Given the description of an element on the screen output the (x, y) to click on. 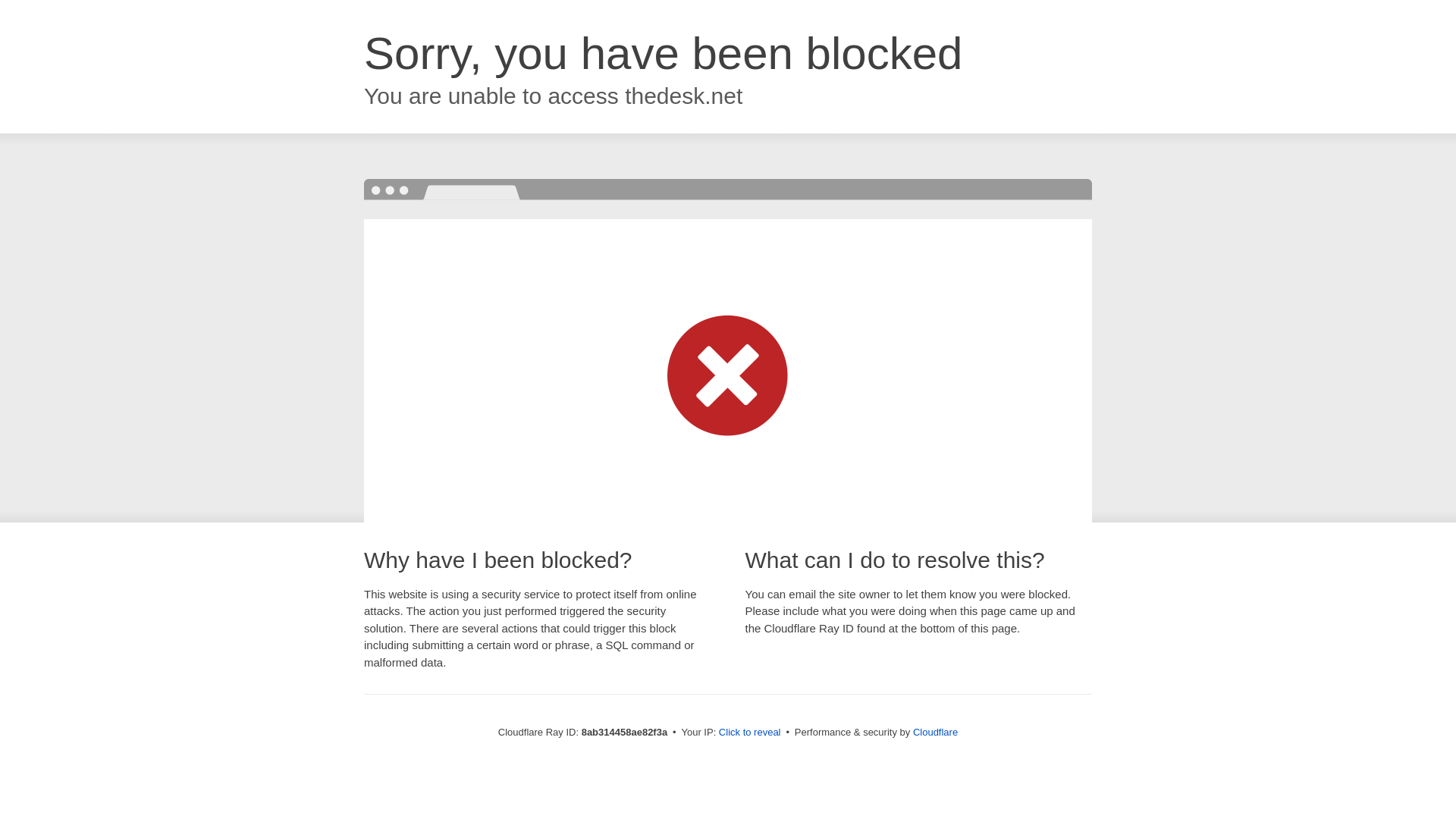
Cloudflare (935, 731)
Click to reveal (749, 732)
